Given the description of an element on the screen output the (x, y) to click on. 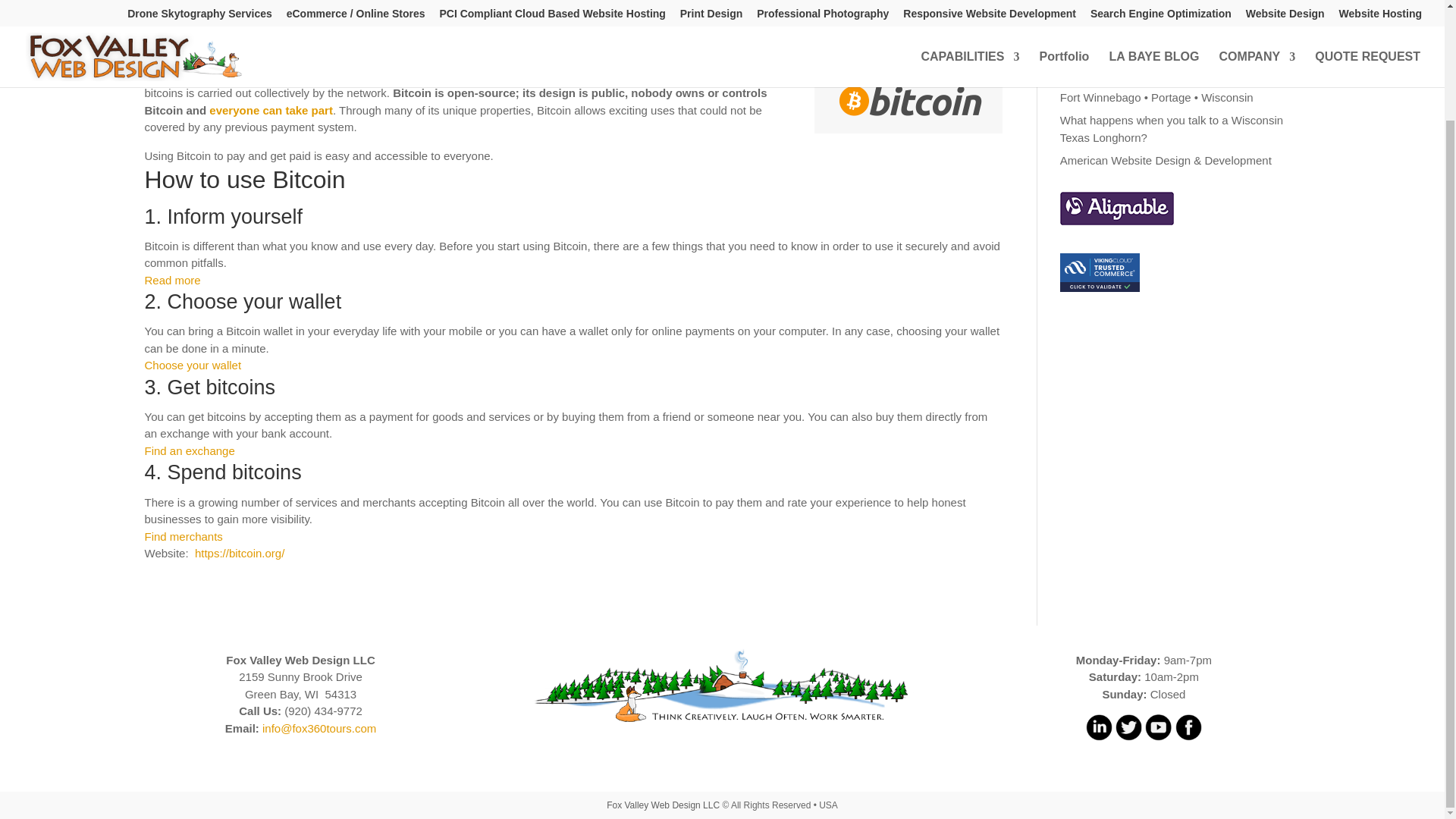
Facebook - Fox Valley Web Design LLC (1188, 736)
YouTube - Fox Valley Web Design LLC (1158, 736)
Twitter - FVWD (1128, 736)
wisconsin-website-developers-fvwd-usa (721, 686)
Recommended by Locals On Alignable (1116, 208)
LinkedIN - Fox Valley Web Design (1099, 736)
